Given the description of an element on the screen output the (x, y) to click on. 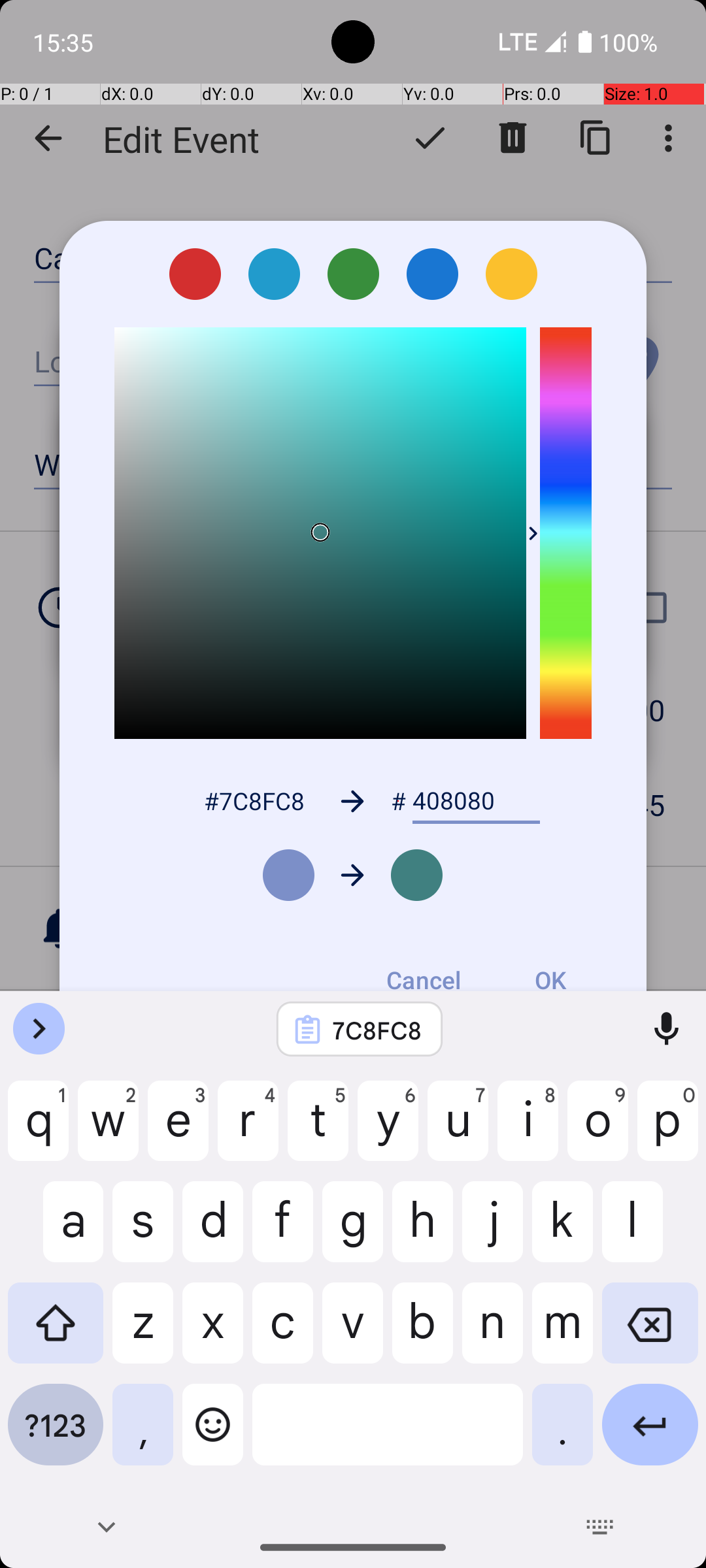
#7C8FC8 Element type: android.widget.TextView (254, 800)
408080 Element type: android.widget.EditText (475, 800)
7C8FC8 Element type: android.widget.TextView (376, 1029)
